Given the description of an element on the screen output the (x, y) to click on. 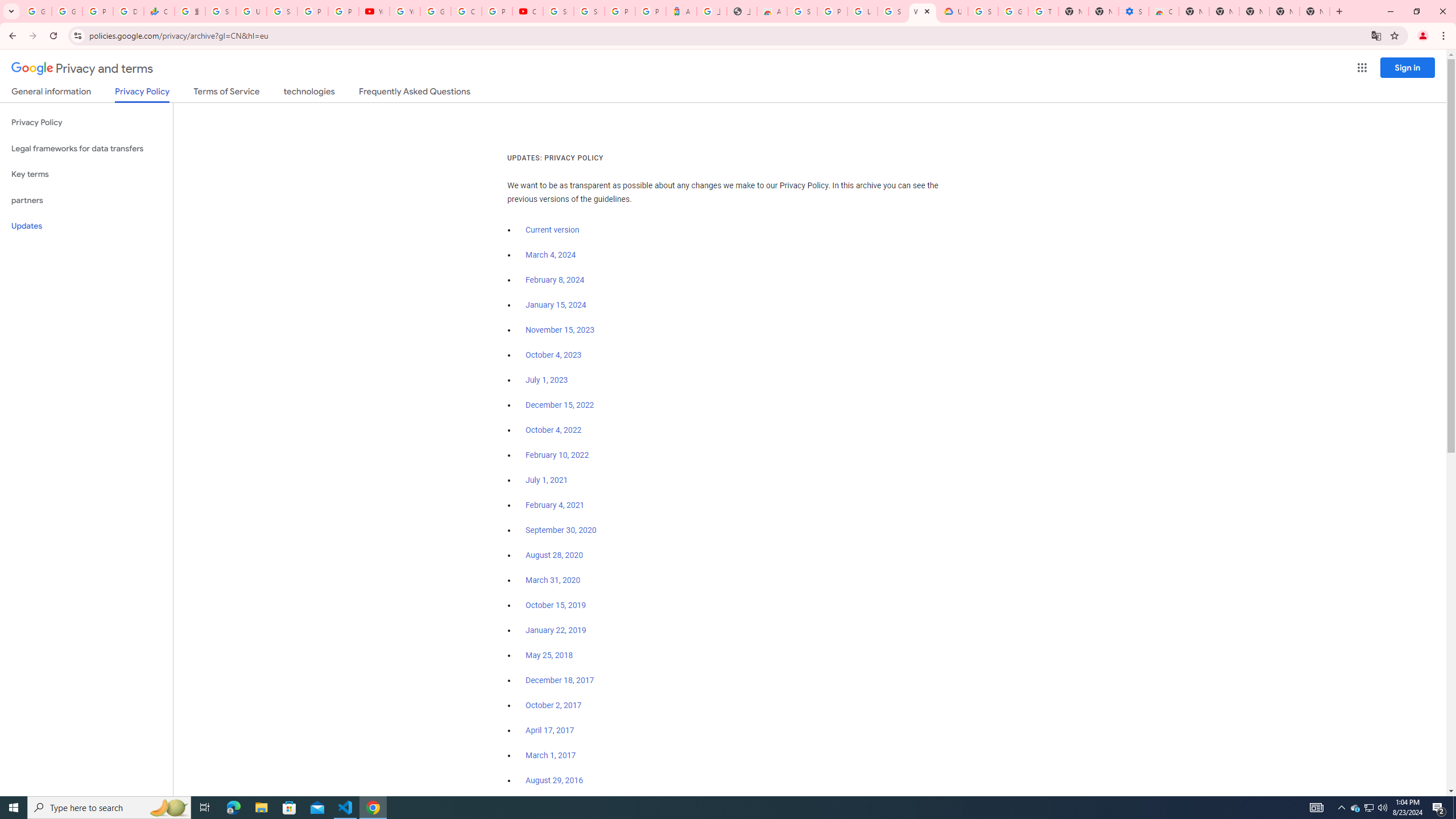
Privacy and terms (81, 68)
YouTube (404, 11)
April 17, 2017 (550, 729)
Turn cookies on or off - Computer - Google Account Help (1042, 11)
July 1, 2021 (546, 480)
YouTube (373, 11)
New Tab (1314, 11)
Key terms (86, 174)
March 1, 2017 (550, 755)
October 4, 2023 (553, 355)
